Given the description of an element on the screen output the (x, y) to click on. 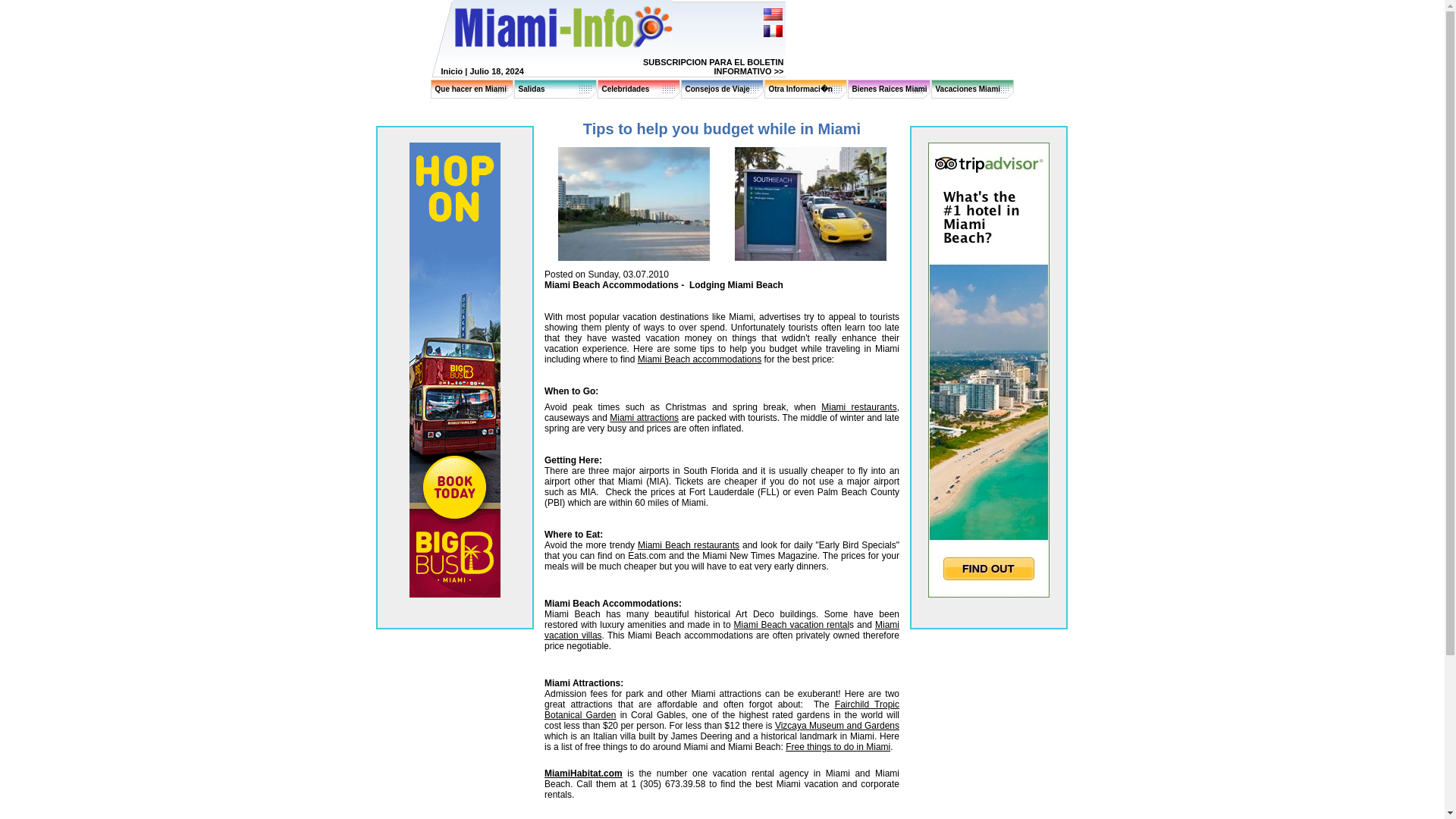
Consejos de Viaje (717, 89)
Inicio (452, 71)
Celebridades (625, 89)
Bienes Raices Miami (889, 89)
Salidas (531, 89)
Que hacer en Miami (470, 89)
Vacaciones Miami (968, 89)
